Given the description of an element on the screen output the (x, y) to click on. 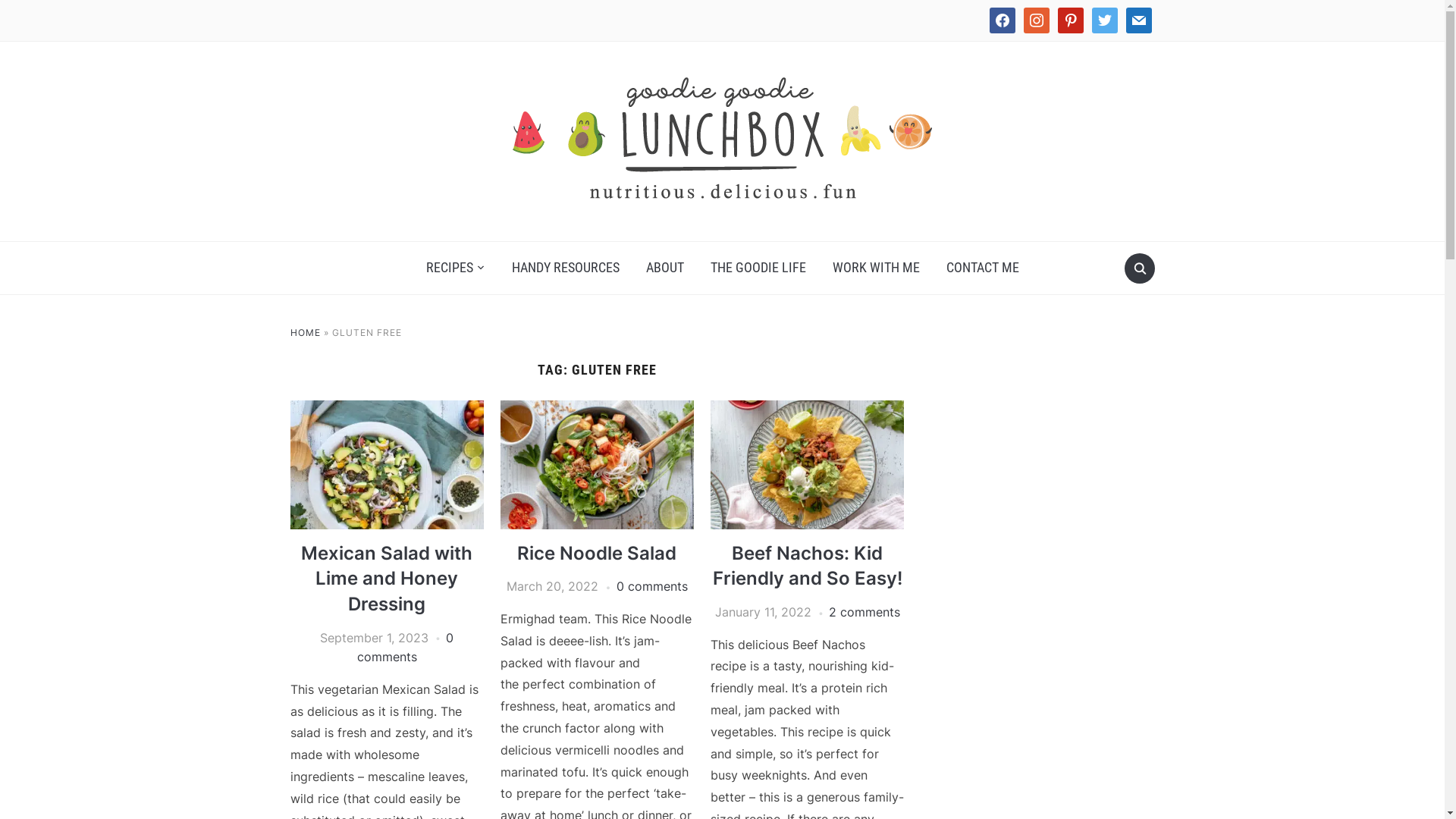
Mexican Salad with Lime and Honey Dressing Element type: text (386, 578)
0 comments Element type: text (651, 585)
WORK WITH ME Element type: text (875, 267)
pinterest Element type: text (1069, 19)
2 comments Element type: text (864, 611)
twitter Element type: text (1104, 19)
RECIPES Element type: text (454, 267)
HOME Element type: text (304, 332)
Beef Nachos: Kid Friendly and So Easy! Element type: text (807, 565)
ABOUT Element type: text (663, 267)
0 comments Element type: text (405, 647)
Mexican Salad with Lime and Honey Dressing Element type: hover (386, 409)
Beef Nachos: Kid Friendly and So Easy! Element type: hover (806, 409)
facebook Element type: text (1001, 19)
CONTACT ME Element type: text (981, 267)
Rice Noodle Salad Element type: text (596, 553)
Rice Noodle Salad Element type: hover (596, 409)
mail Element type: text (1138, 19)
HANDY RESOURCES Element type: text (565, 267)
instagram Element type: text (1036, 19)
Search Element type: text (1138, 268)
THE GOODIE LIFE Element type: text (758, 267)
